Given the description of an element on the screen output the (x, y) to click on. 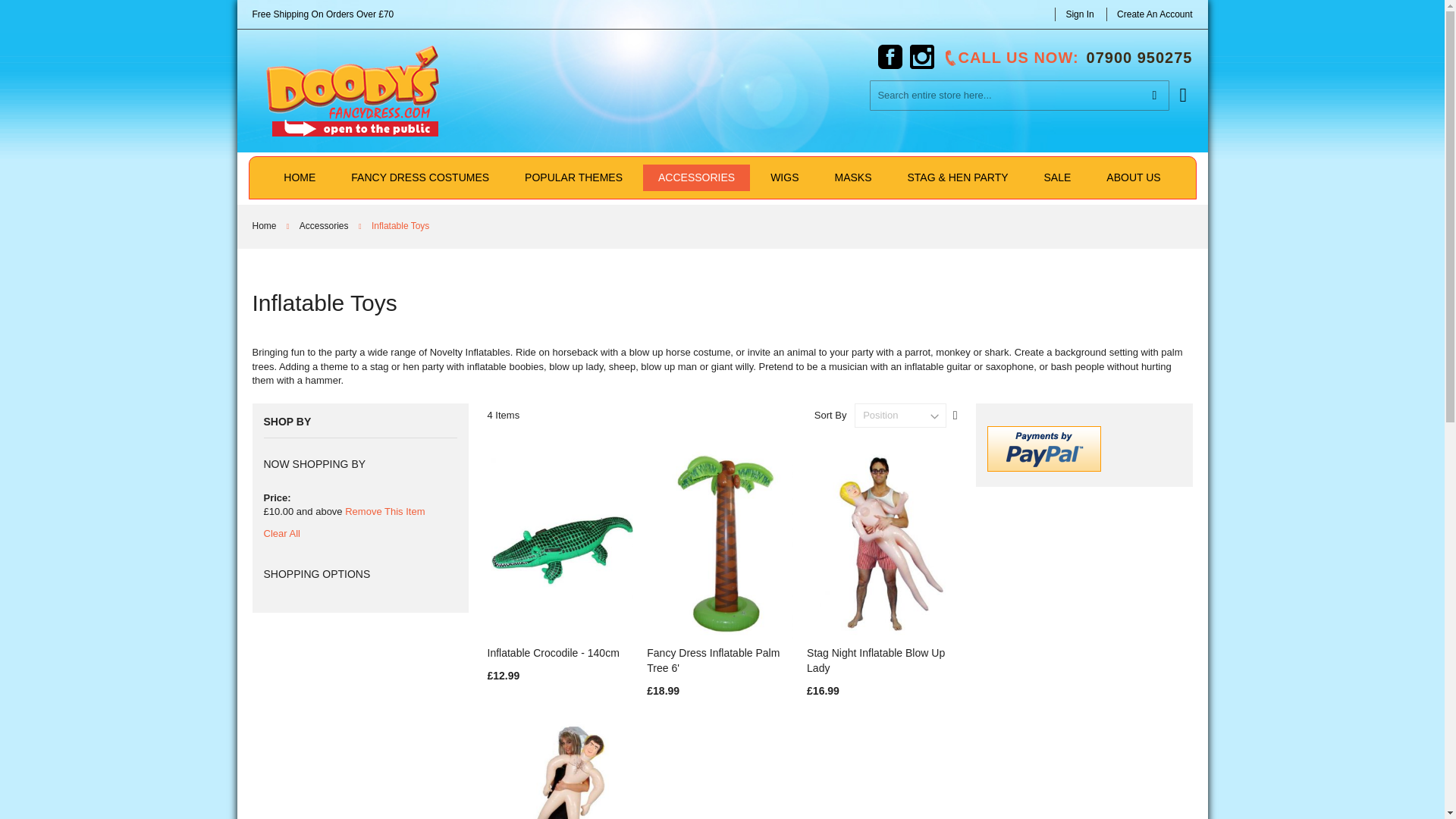
MY CART (1185, 86)
Additional Options (1043, 448)
Additional Options (1043, 468)
Create An Account (1154, 14)
Fancy Dress Bradford (352, 91)
07900 950275 (1137, 57)
Search (1153, 95)
Go to Home Page (264, 225)
HOME (298, 177)
FANCY DRESS COSTUMES (419, 177)
Sign In (1079, 14)
Search (1153, 95)
